Given the description of an element on the screen output the (x, y) to click on. 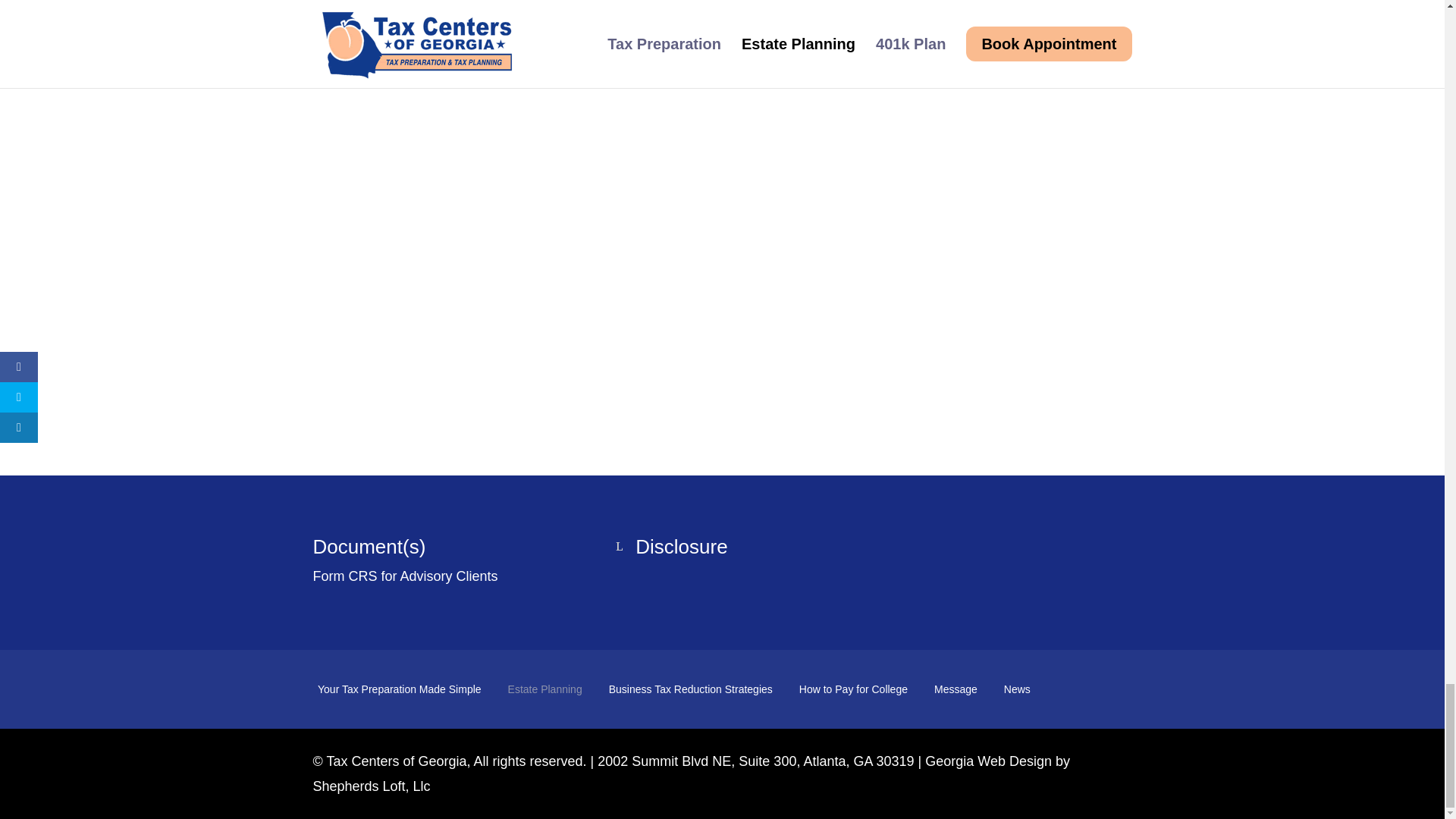
Georgia Web Design (987, 761)
News (1017, 692)
Maintenance Free WordPress (987, 761)
Message (955, 692)
Submit (858, 256)
Business Tax Reduction Strategies (690, 692)
Your Tax Preparation Made Simple (399, 692)
Form CRS for Advisory Clients (405, 575)
How to Pay for College (853, 692)
Estate Planning (545, 692)
